Given the description of an element on the screen output the (x, y) to click on. 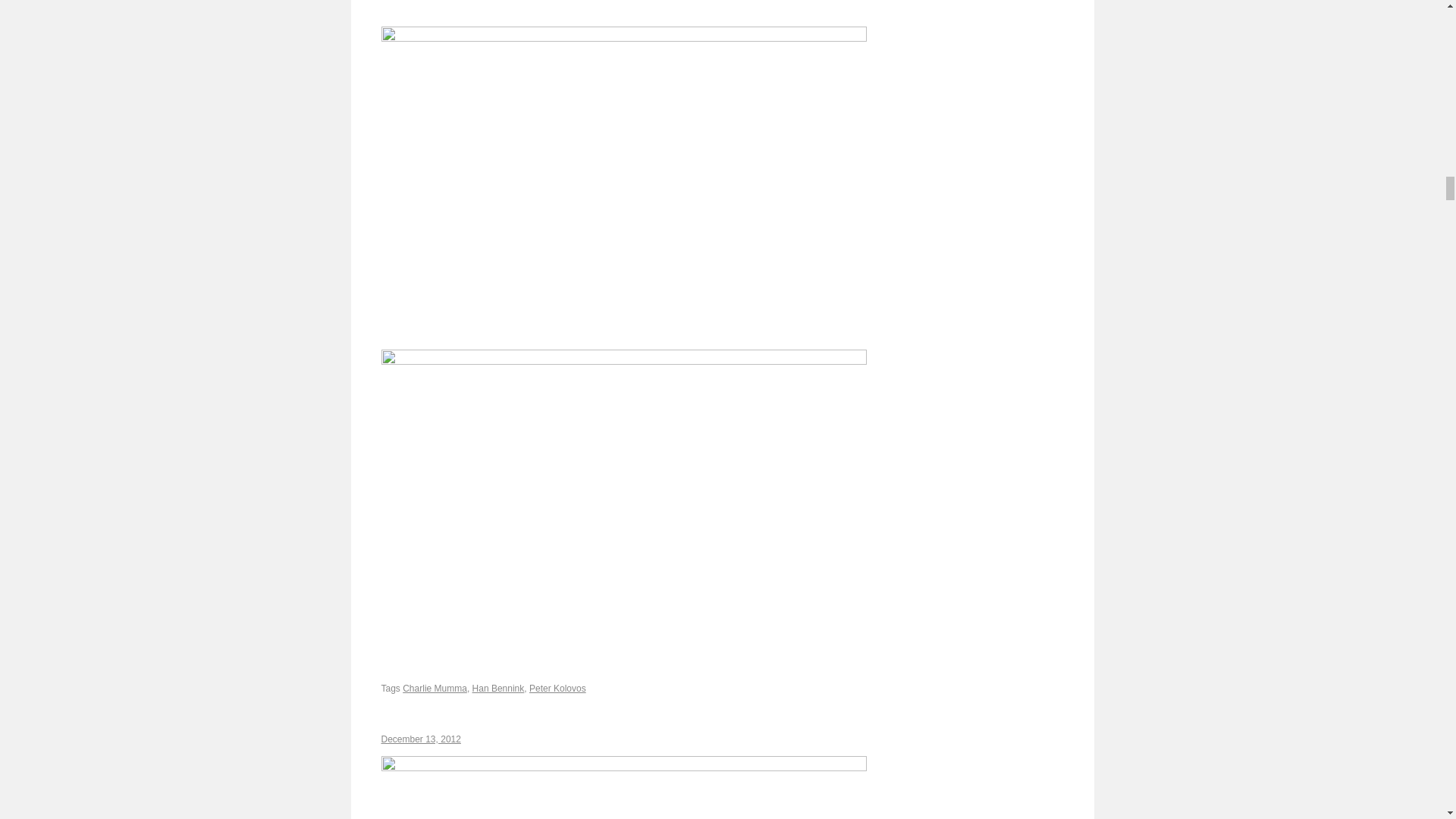
Charlie Mumma (435, 688)
Han Bennink (497, 688)
Peter Kolovos (557, 688)
2014-02-06-drumset-photoby-john-wiese (623, 13)
December 13, 2012 (420, 738)
